Given the description of an element on the screen output the (x, y) to click on. 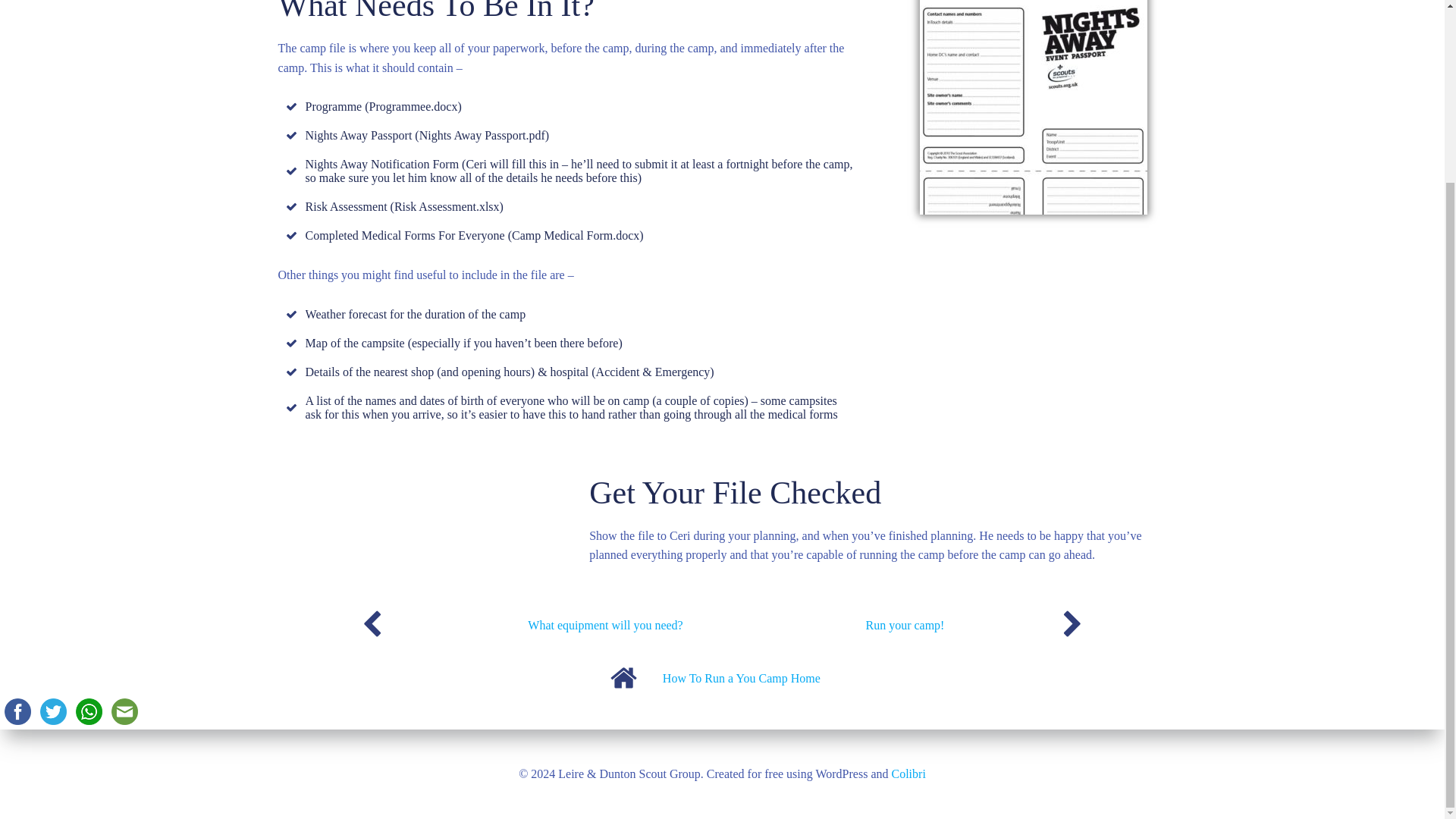
Colibri (908, 548)
twitter (52, 711)
Run your camp! (903, 625)
whatsapp (88, 711)
email (124, 711)
What equipment will you need? (604, 625)
facebook (17, 711)
How To Run a You Camp Home (741, 678)
